Given the description of an element on the screen output the (x, y) to click on. 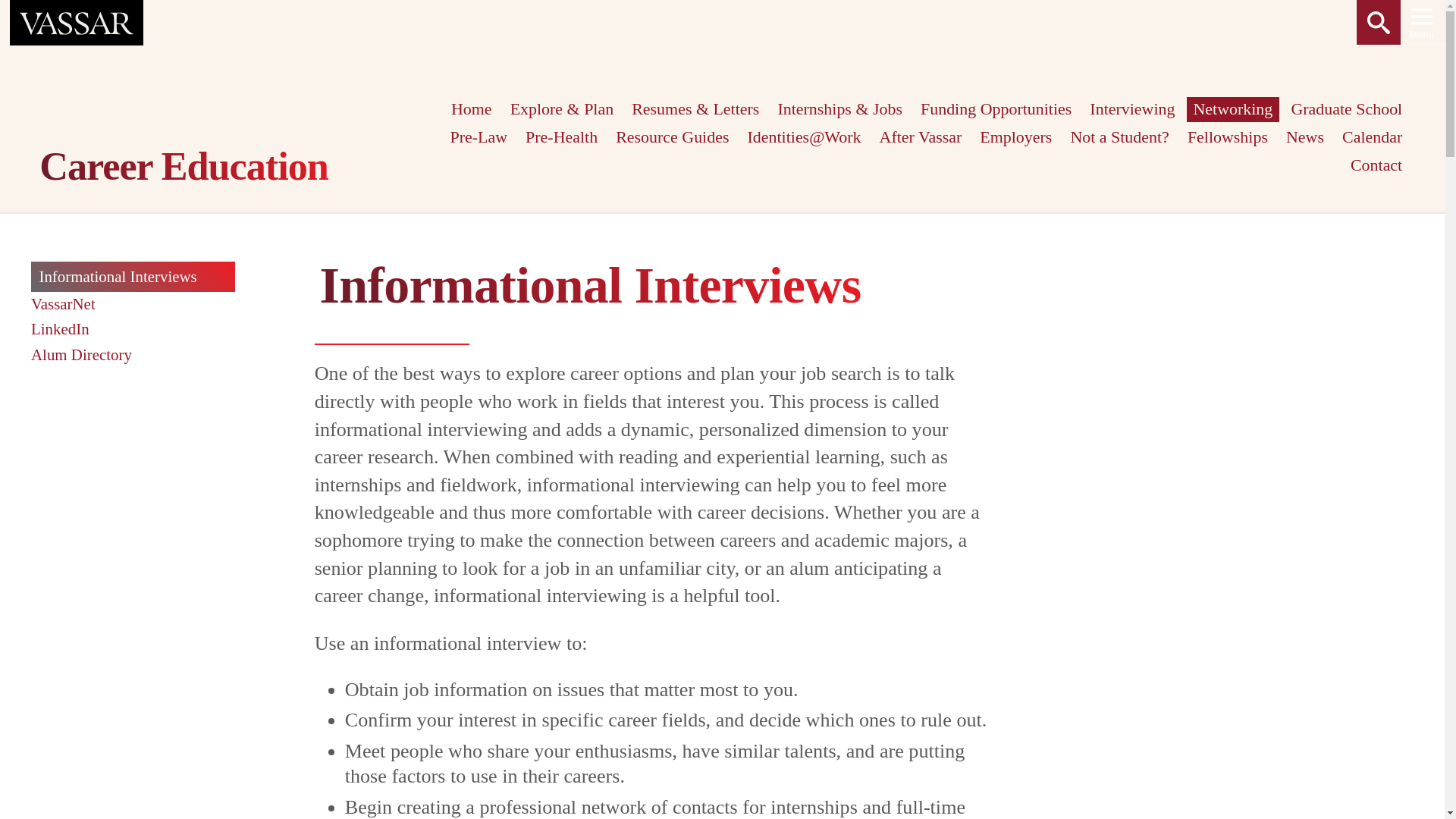
Career Education (190, 170)
Vassar (76, 22)
Vassar (76, 23)
Home (470, 109)
